Given the description of an element on the screen output the (x, y) to click on. 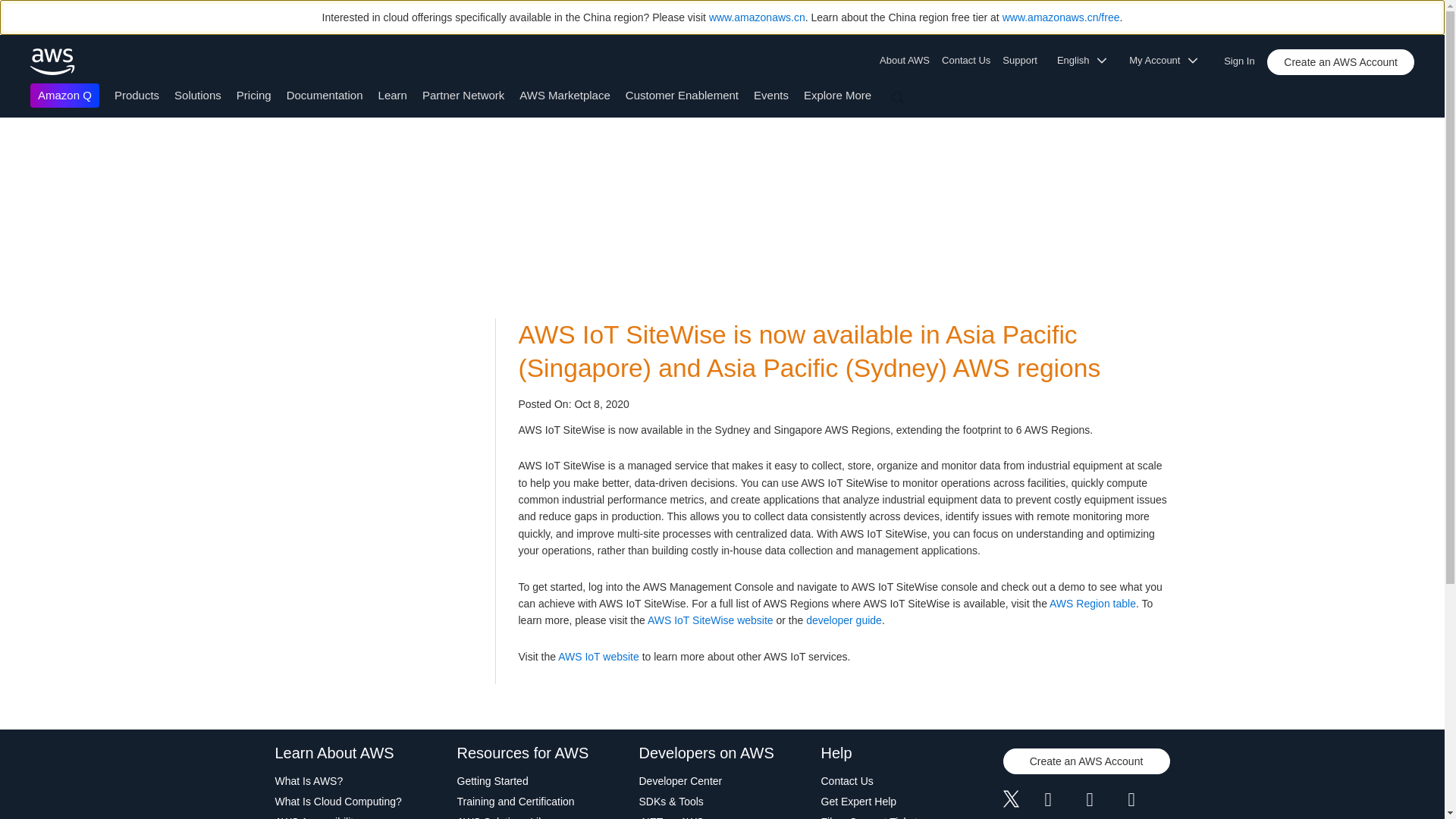
Sign In (1243, 58)
Customer Enablement (682, 94)
Instagram (1149, 801)
Explore More (836, 94)
Solutions (197, 94)
My Account   (1168, 60)
AWS Marketplace (564, 94)
www.amazonaws.cn (757, 17)
Events (771, 94)
Create an AWS Account (1339, 62)
